Given the description of an element on the screen output the (x, y) to click on. 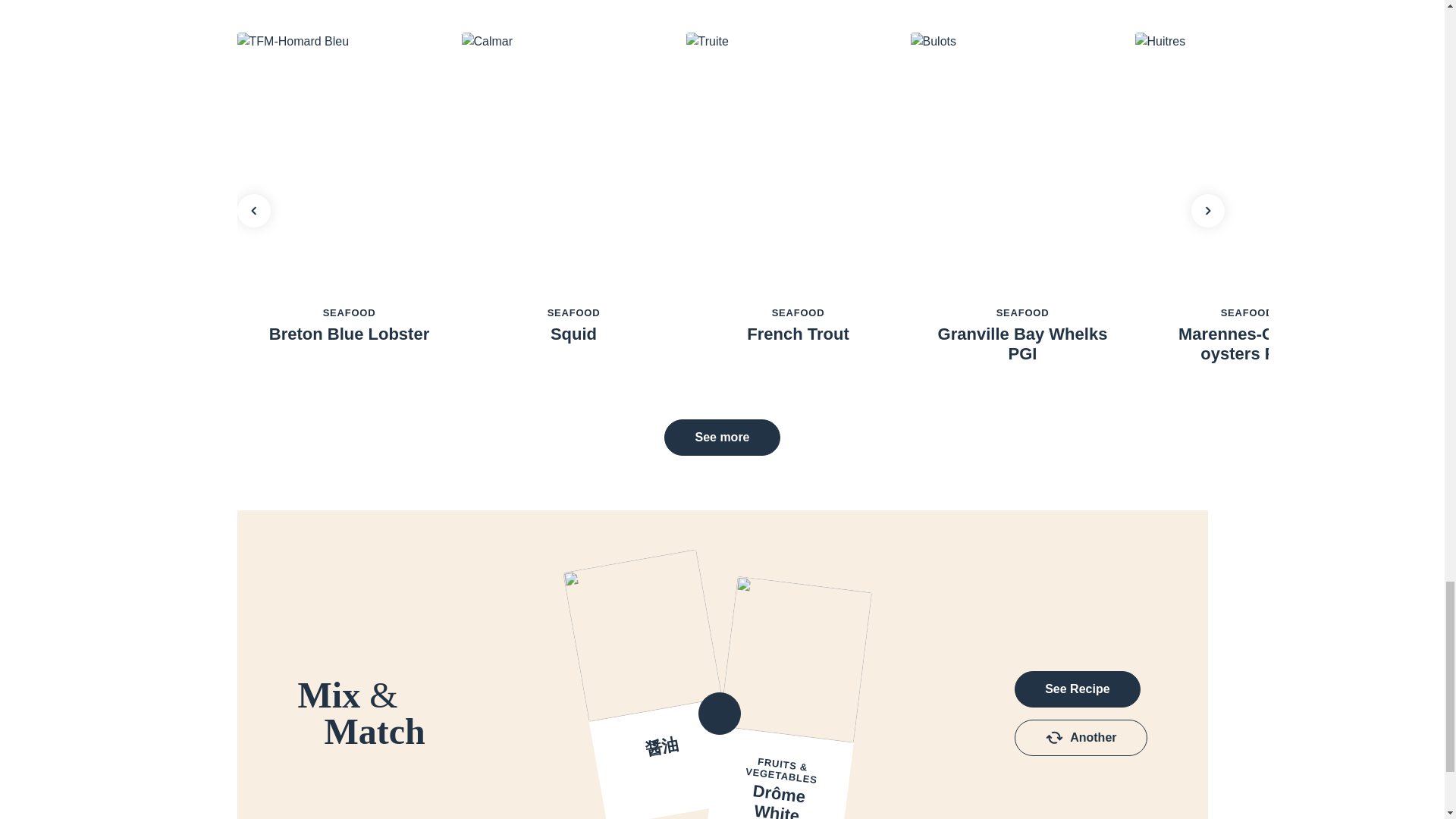
SEAFOOD (1021, 312)
SEAFOOD (348, 312)
SEAFOOD (572, 312)
SEAFOOD (1246, 312)
Breton Blue Lobster (348, 333)
Granville Bay Whelks PGI (1021, 344)
SEAFOOD (797, 312)
Squid (572, 333)
French Trout (797, 333)
